Given the description of an element on the screen output the (x, y) to click on. 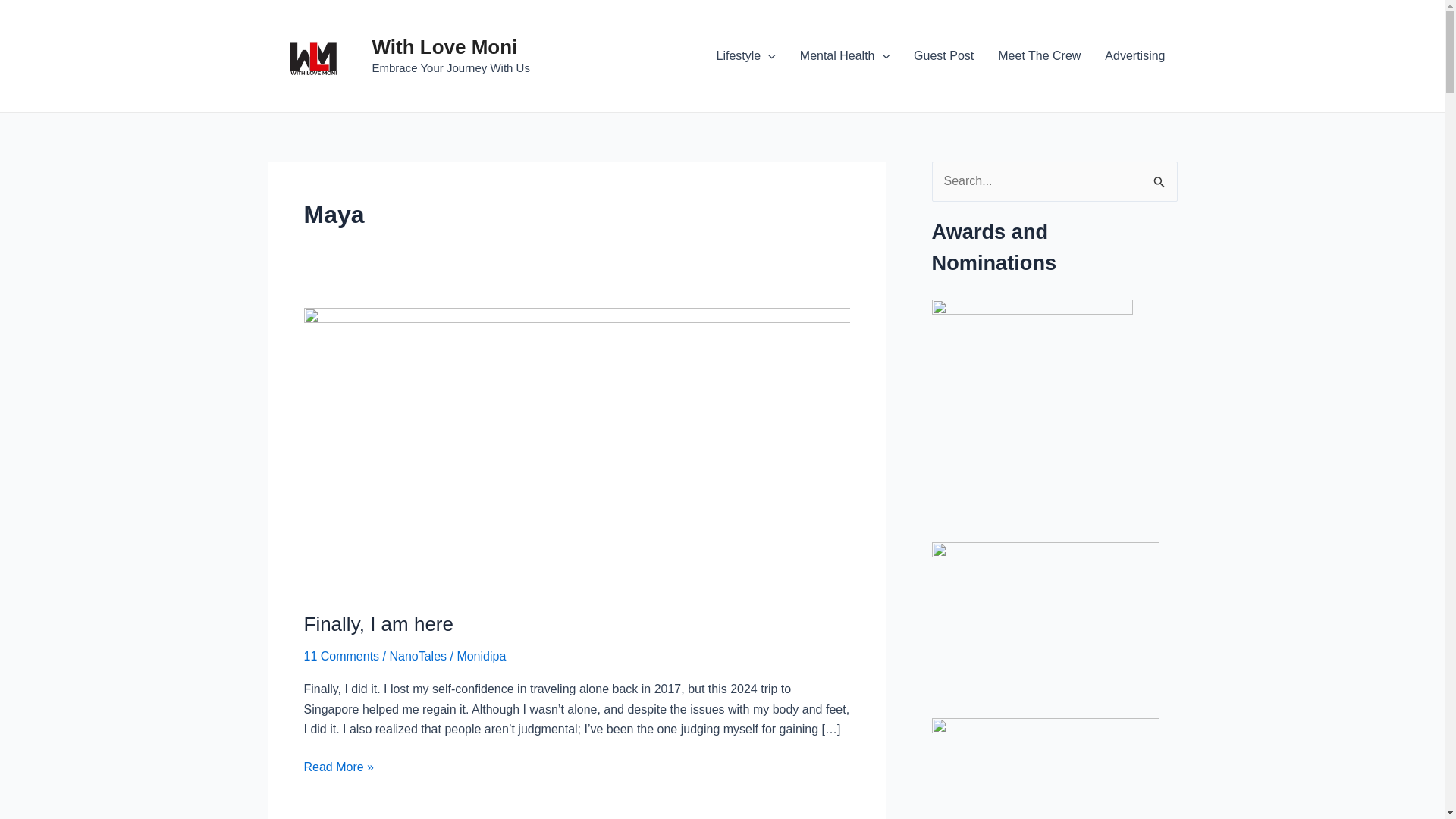
Advertising (1134, 55)
Search (1159, 177)
Mental Health (844, 55)
Meet The Crew (1039, 55)
Guest Post (943, 55)
Monidipa (481, 656)
View all posts by Monidipa (481, 656)
With Love Moni (443, 47)
Finally, I am here (377, 623)
Lifestyle (745, 55)
